Given the description of an element on the screen output the (x, y) to click on. 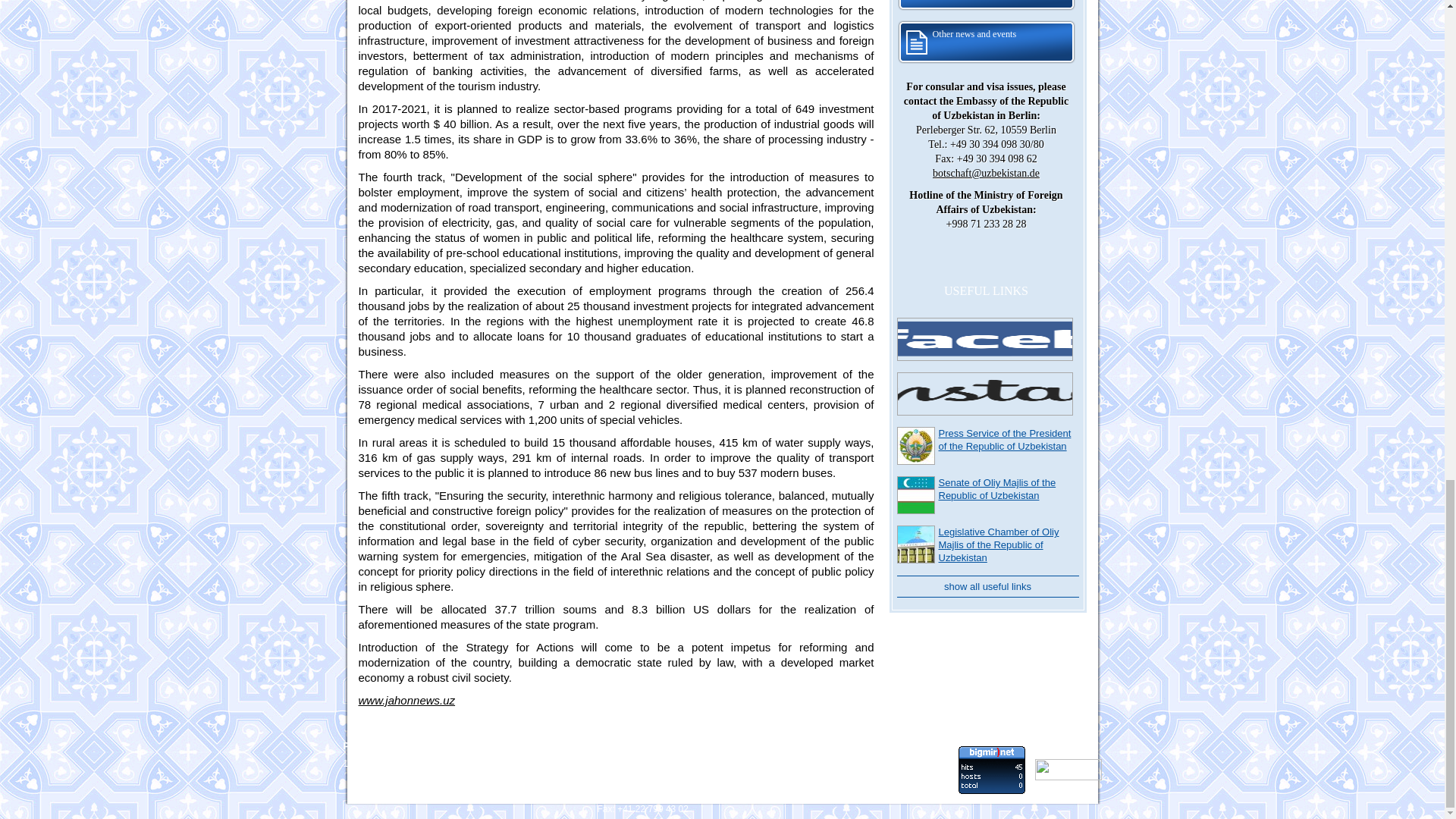
Constitutional reform (985, 6)
Press Service of the President of the Republic of Uzbekistan (1005, 439)
Other news and events (985, 42)
